Given the description of an element on the screen output the (x, y) to click on. 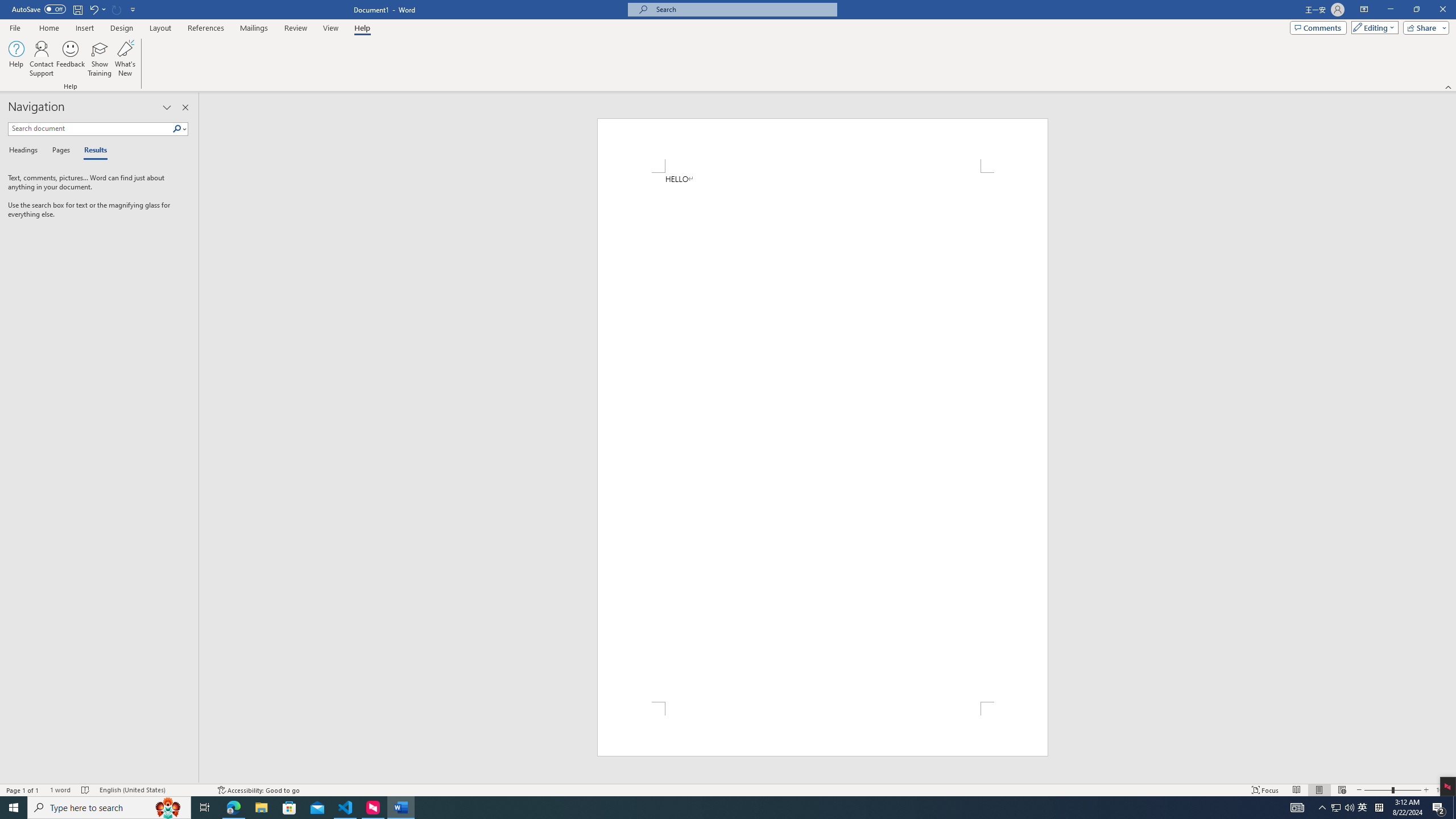
Zoom In (1426, 790)
